Given the description of an element on the screen output the (x, y) to click on. 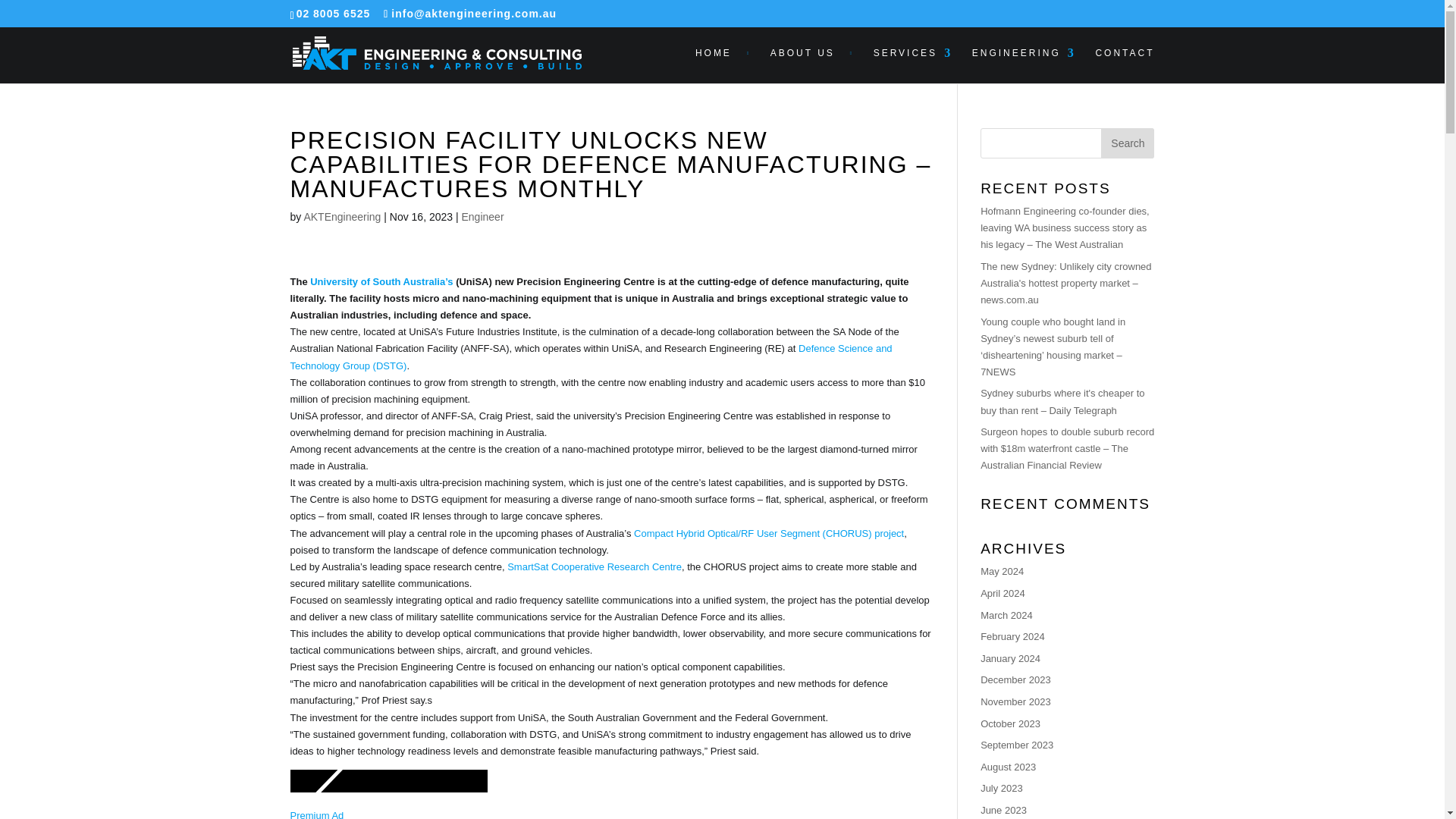
AKTEngineering (341, 216)
SmartSat Cooperative Research Centre (593, 566)
CONTACT (1124, 65)
ABOUT US (811, 65)
SERVICES (912, 65)
Search (1127, 142)
HOME (723, 65)
Engineer (482, 216)
Posts by AKTEngineering (341, 216)
ENGINEERING (1023, 65)
